Given the description of an element on the screen output the (x, y) to click on. 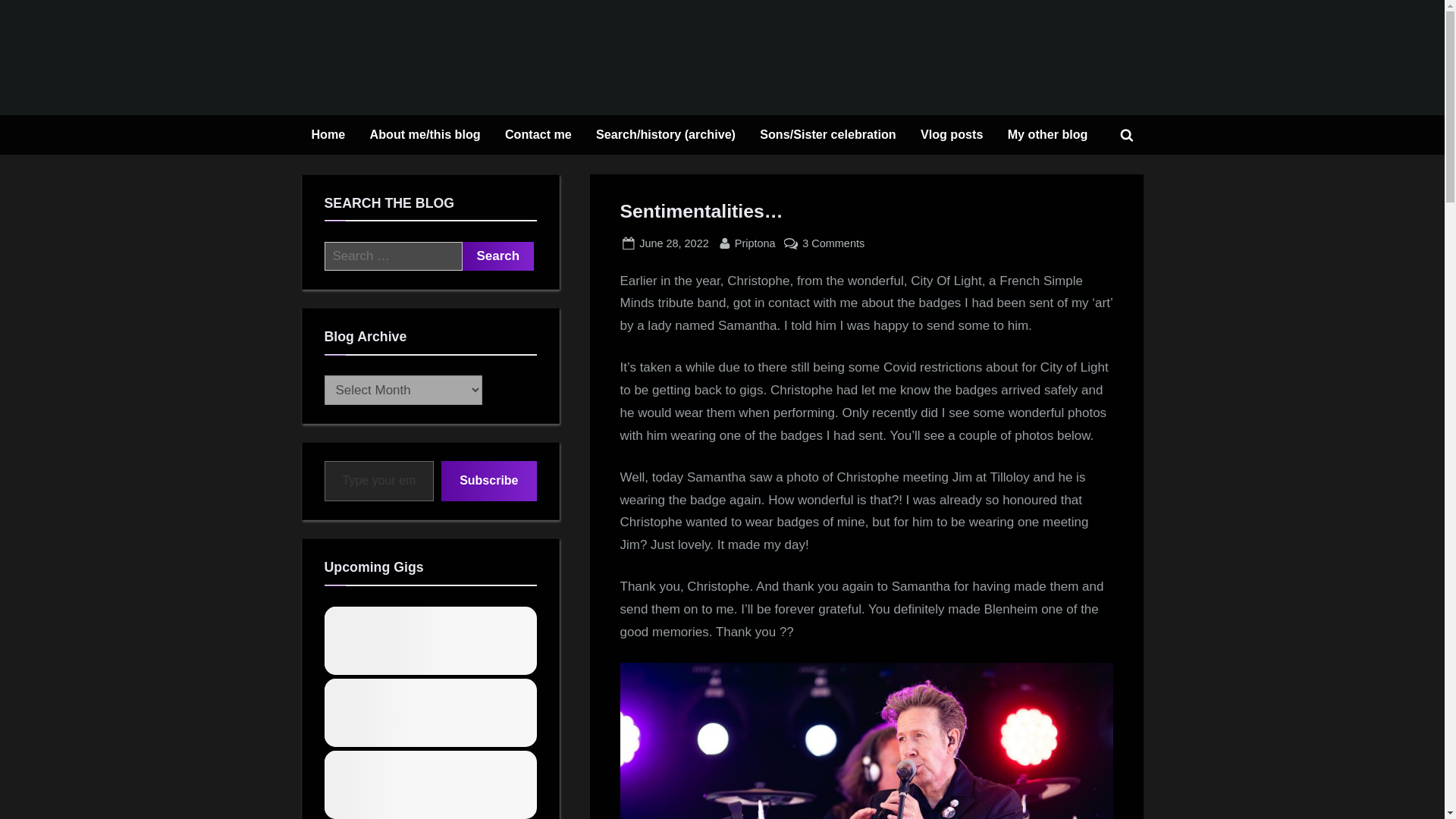
Toggle search form (1126, 134)
Search (498, 256)
Priptona's Simple Minds Space (674, 243)
Search (893, 107)
My other blog (498, 256)
Contact me (755, 243)
Vlog posts (1047, 134)
Home (537, 134)
Please fill in this field. (951, 134)
